Given the description of an element on the screen output the (x, y) to click on. 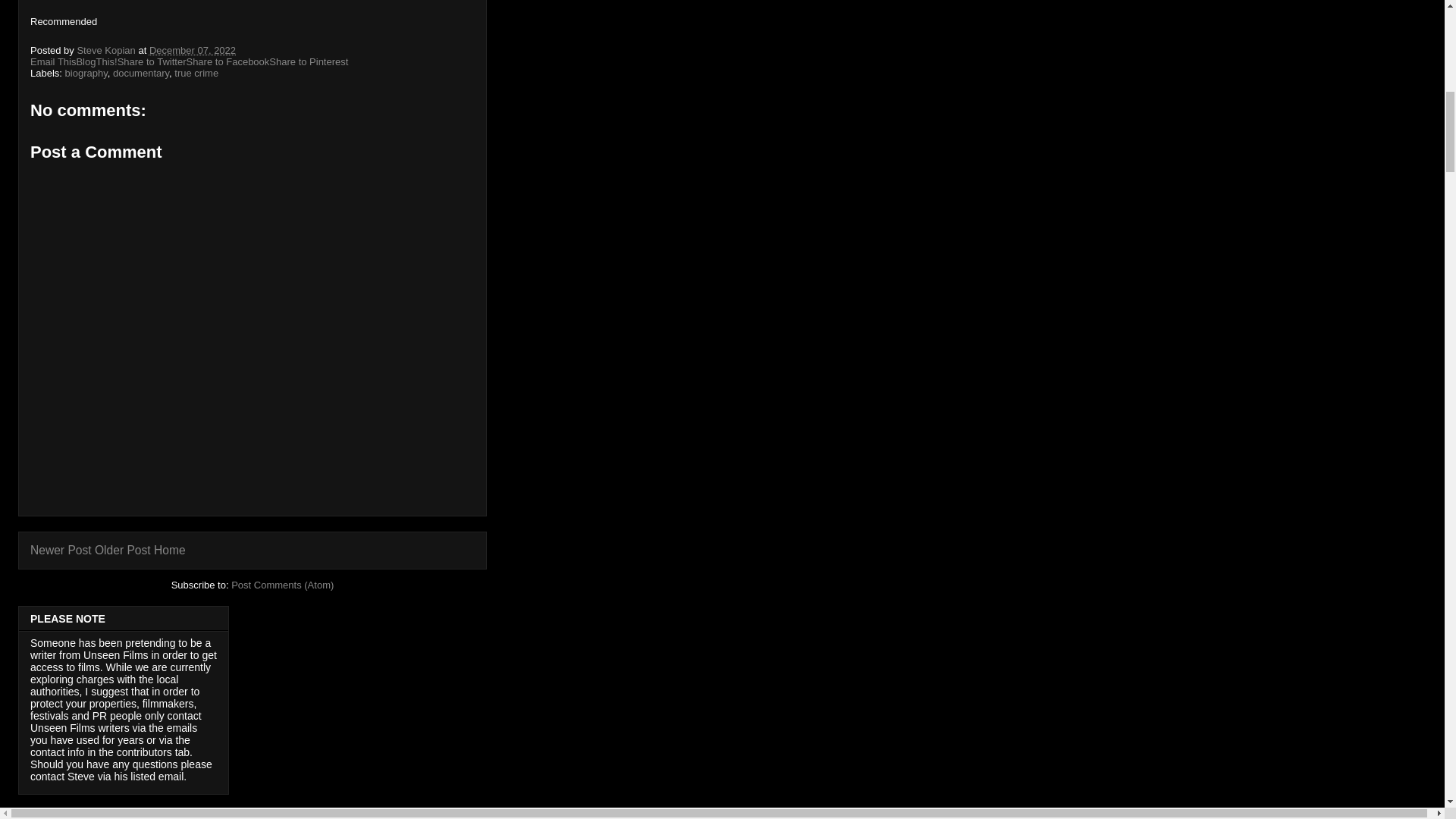
Email This (52, 61)
Steve Kopian (107, 50)
documentary (140, 72)
BlogThis! (95, 61)
Email This (52, 61)
Share to Twitter (151, 61)
author profile (107, 50)
Share to Facebook (227, 61)
Share to Pinterest (308, 61)
Share to Facebook (227, 61)
Share to Pinterest (308, 61)
Older Post (122, 549)
BlogThis! (95, 61)
true crime (196, 72)
biography (86, 72)
